Given the description of an element on the screen output the (x, y) to click on. 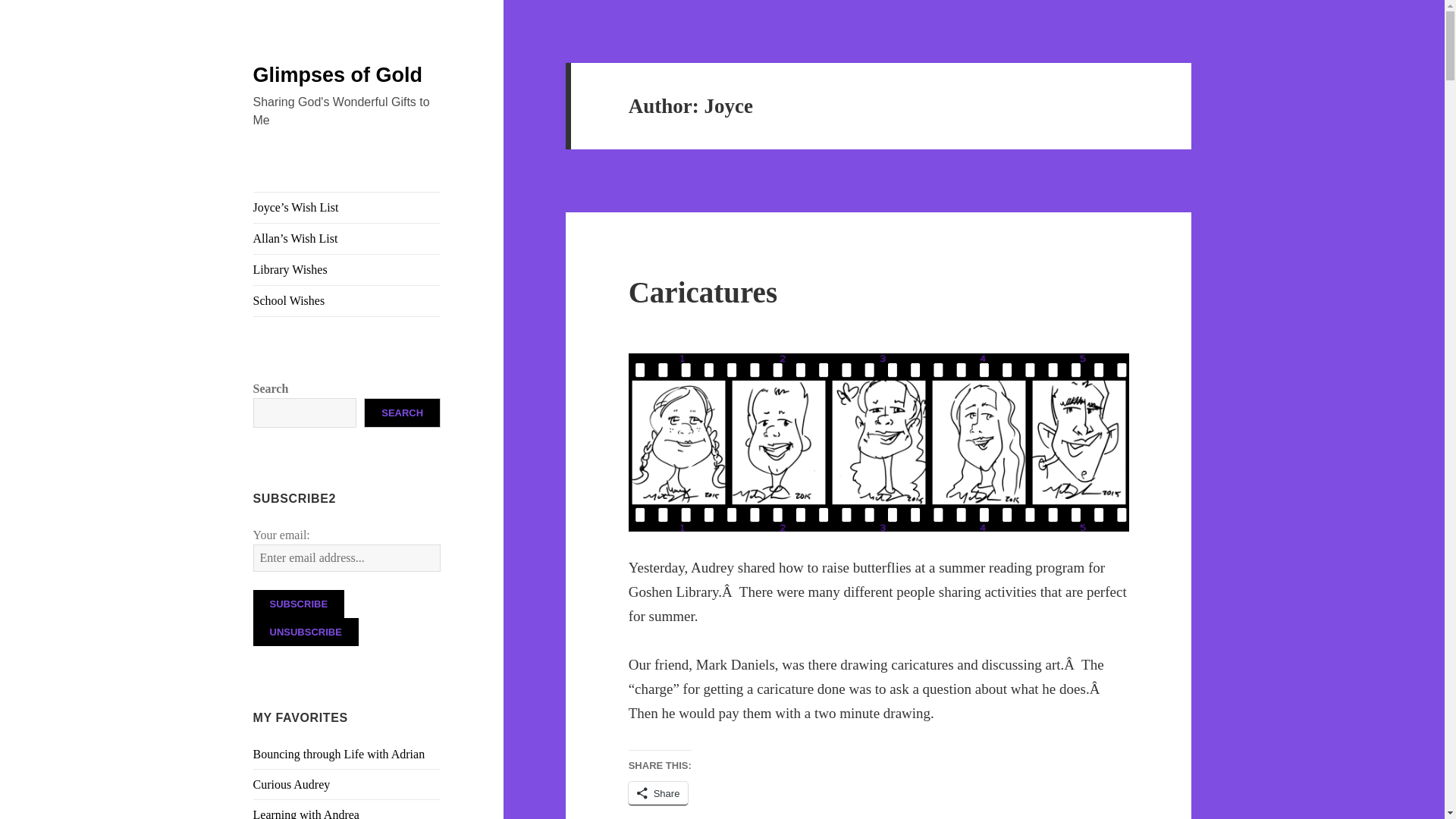
Library Wishes (347, 269)
Subscribe (299, 603)
SEARCH (402, 412)
Subscribe (299, 603)
Unsubscribe (305, 632)
Unsubscribe (305, 632)
Glimpses of Gold (338, 74)
Caricatures (702, 292)
Share (658, 793)
Enter email address... (347, 557)
Curious Audrey (291, 784)
School Wishes (347, 300)
Learning with Andrea (306, 813)
Bouncing through Life with Adrian (339, 753)
